Given the description of an element on the screen output the (x, y) to click on. 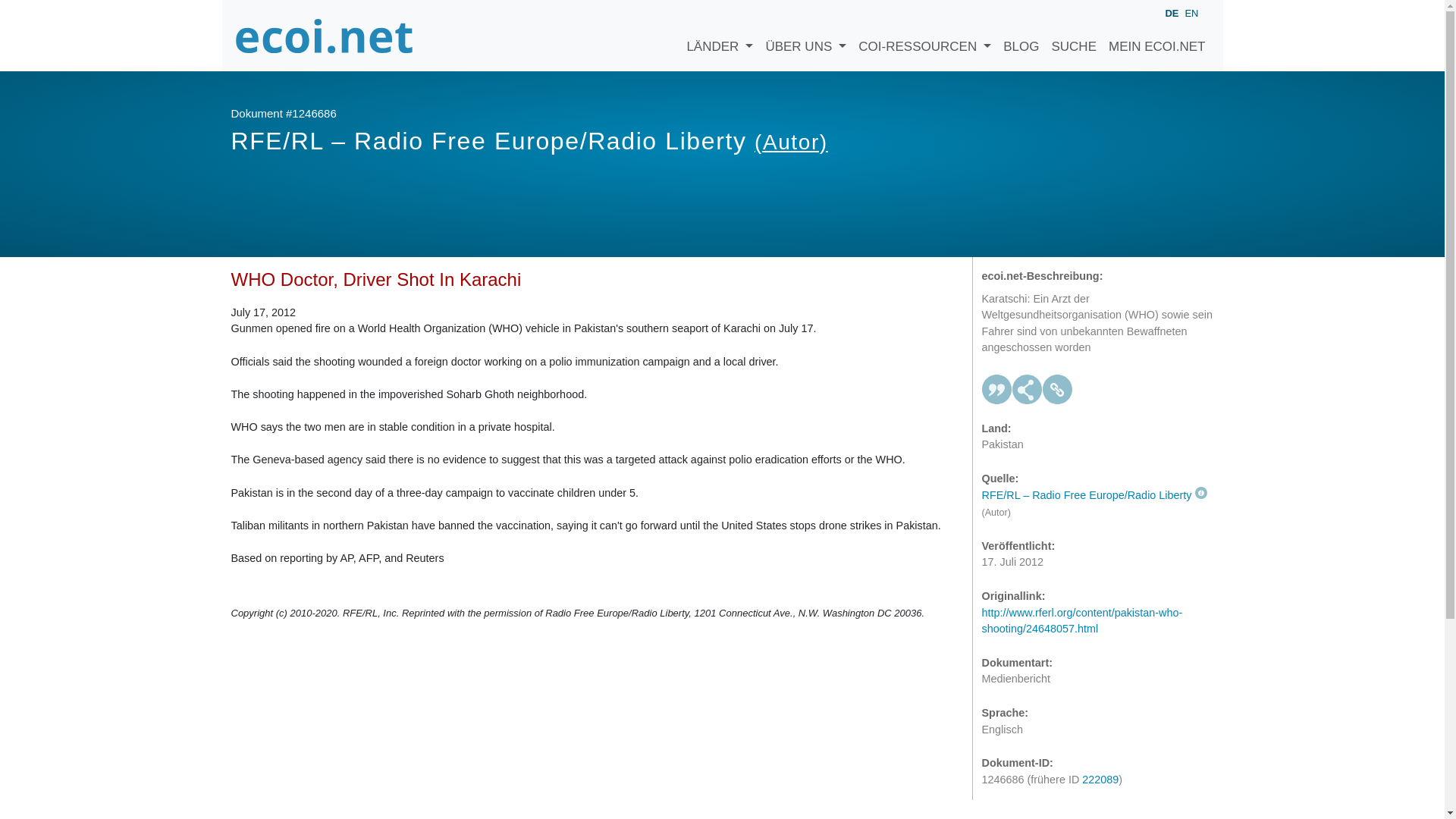
Quellenbeschreibung lesen (1094, 494)
Zitieren als (996, 389)
BLOG (1021, 35)
Zur Startseite von ecoi.net gehen (323, 35)
SUCHE (1073, 35)
COI-RESSOURCEN (924, 35)
EN (1190, 12)
222089 (1099, 779)
Englisch (1190, 12)
Deutsch (1170, 13)
MEIN ECOI.NET (1156, 35)
Permalink (1056, 389)
Teilen (1026, 389)
